Given the description of an element on the screen output the (x, y) to click on. 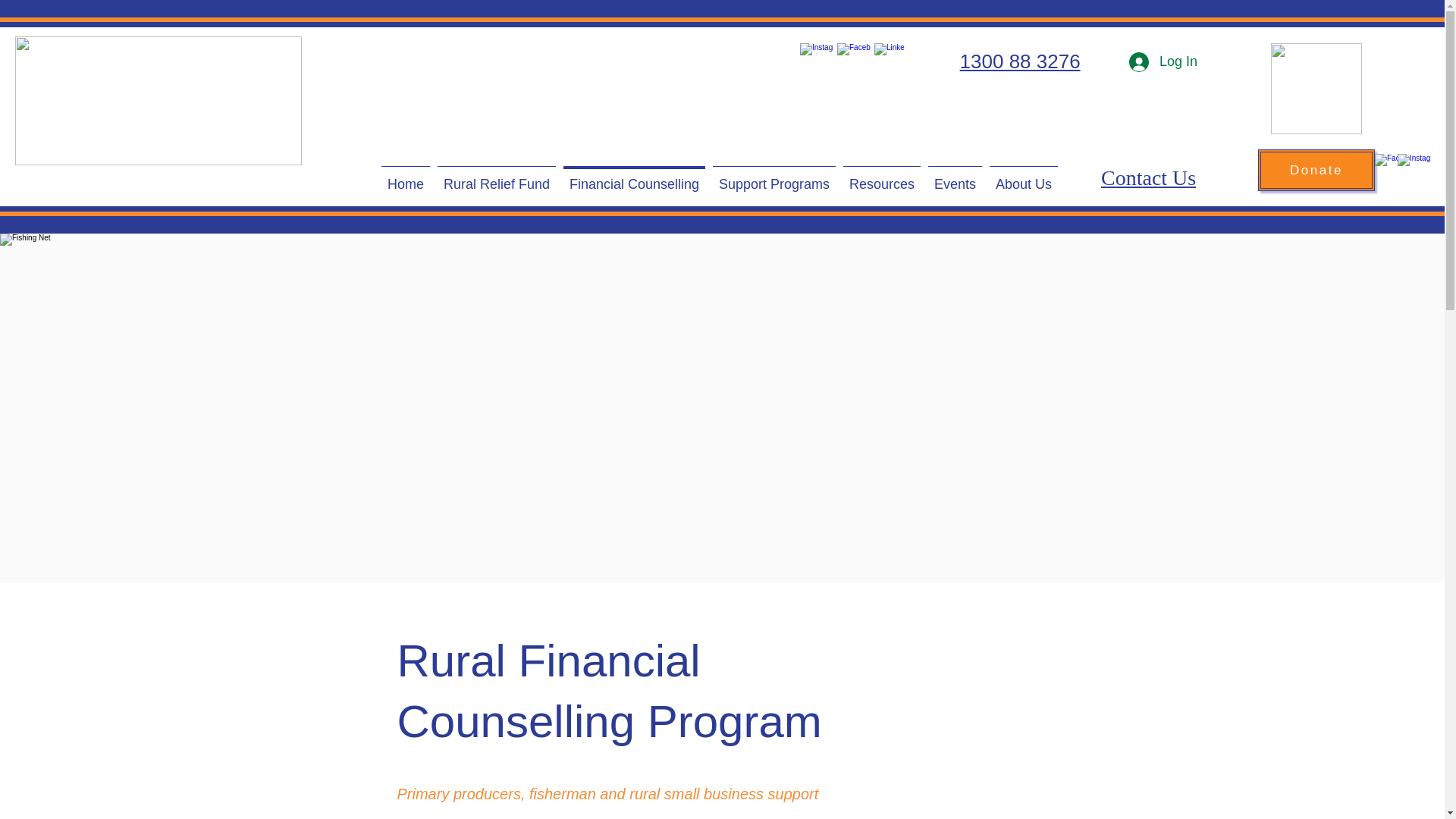
Resources (882, 177)
clipart1879418.png (1316, 88)
Events (954, 177)
Log In (1163, 61)
Rural Relief Fund (496, 177)
Financial Counselling (634, 177)
Donate (1315, 169)
Support Programs (774, 177)
Contact Us (1147, 177)
About Us (1023, 177)
